Given the description of an element on the screen output the (x, y) to click on. 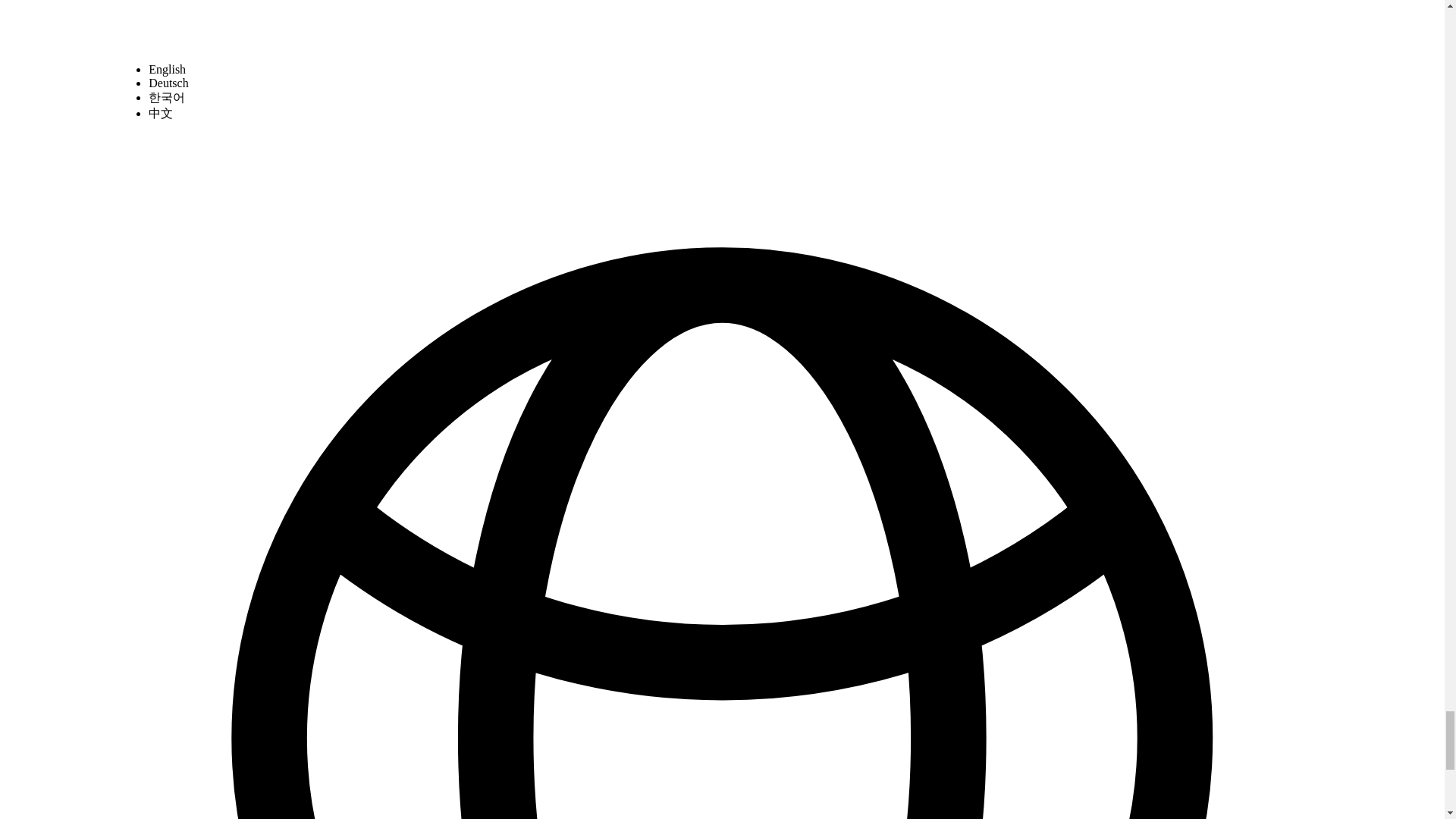
English (167, 68)
Deutsch (167, 82)
Current Language: English (721, 23)
